Given the description of an element on the screen output the (x, y) to click on. 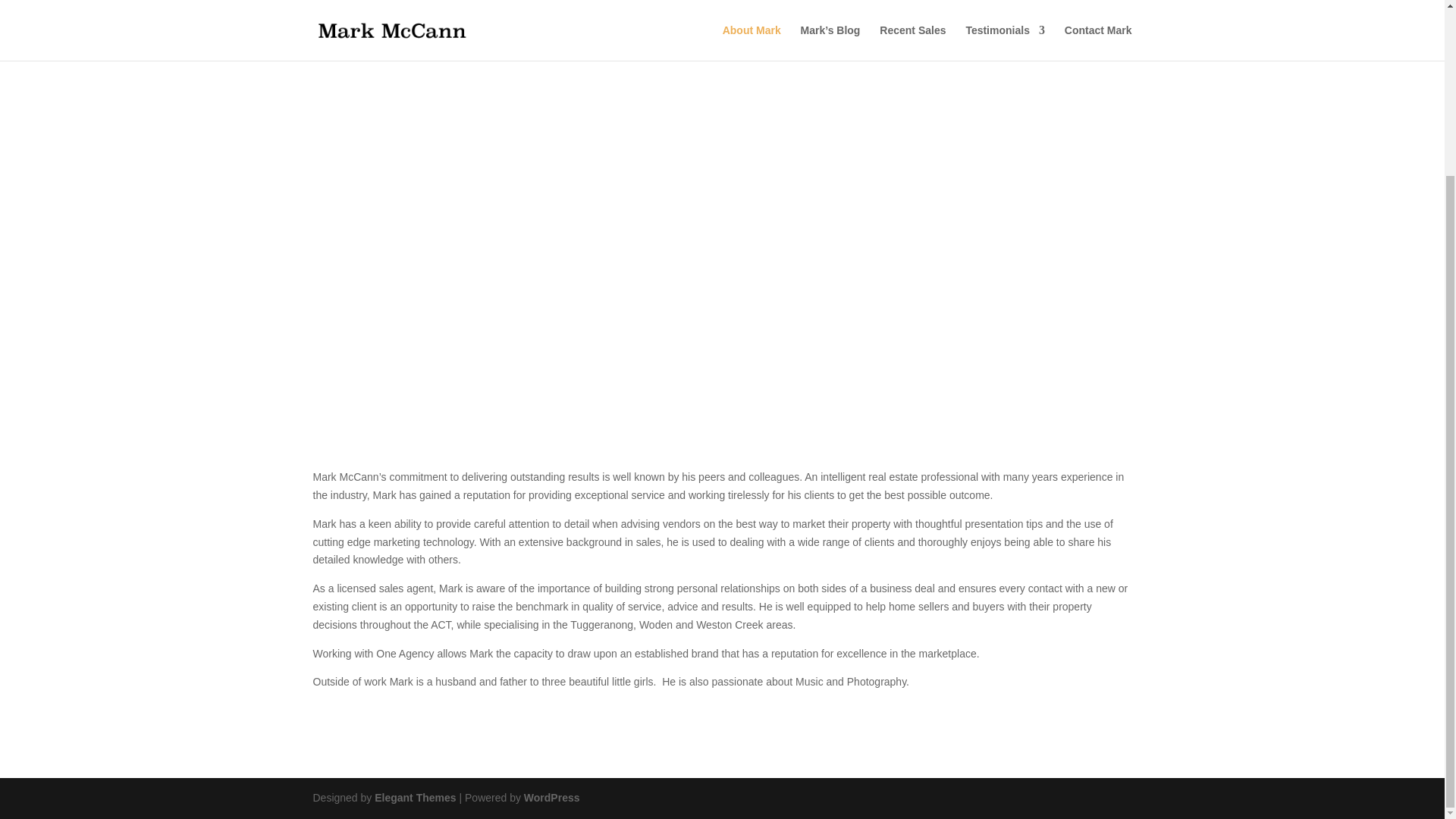
Premium WordPress Themes (414, 797)
Elegant Themes (414, 797)
WordPress (551, 797)
